Given the description of an element on the screen output the (x, y) to click on. 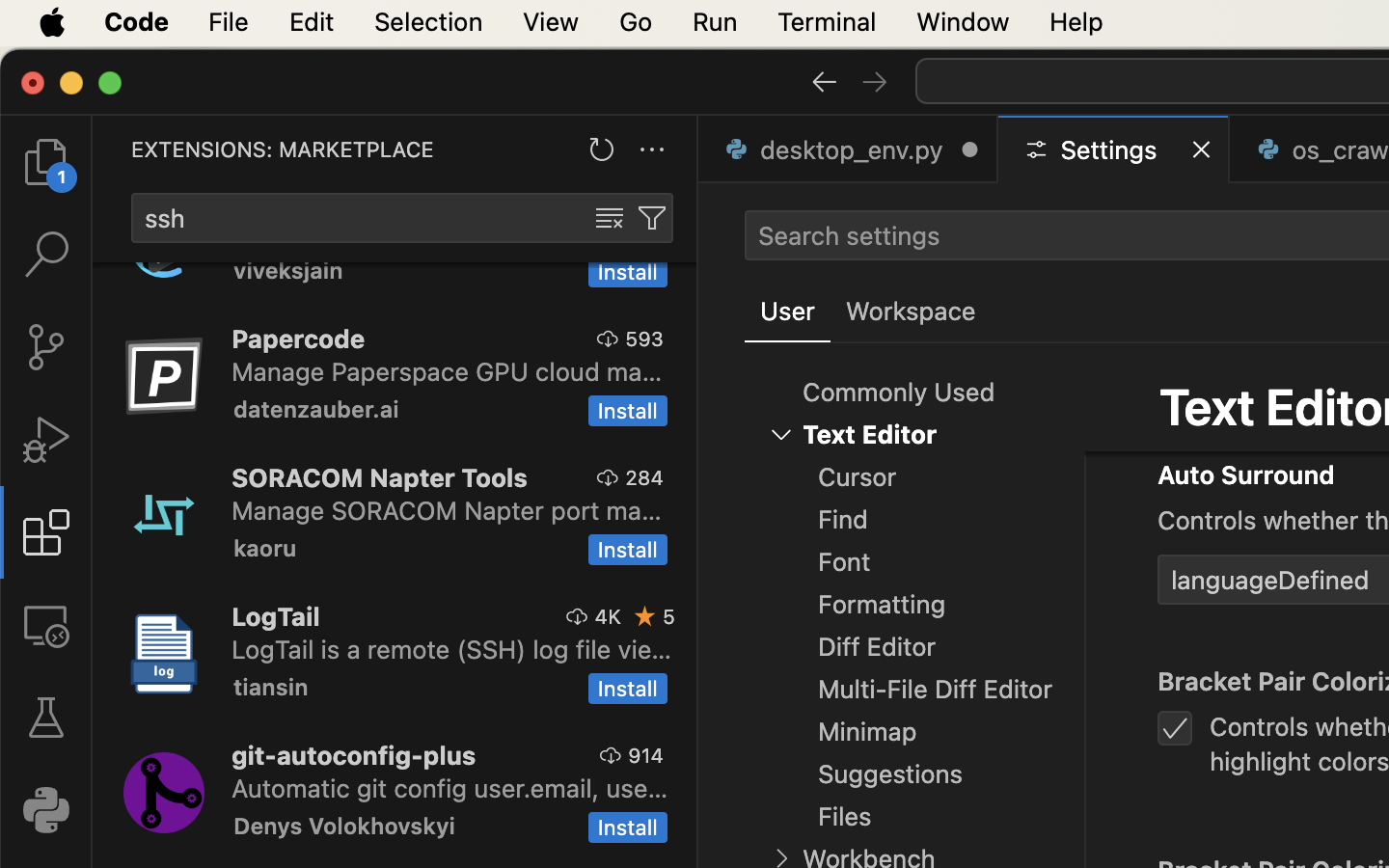
0 desktop_env.py   Element type: AXRadioButton (848, 149)
 Element type: AXGroup (46, 717)
LogTail Element type: AXStaticText (275, 615)
Cursor Element type: AXStaticText (857, 476)
284 Element type: AXStaticText (644, 476)
